Given the description of an element on the screen output the (x, y) to click on. 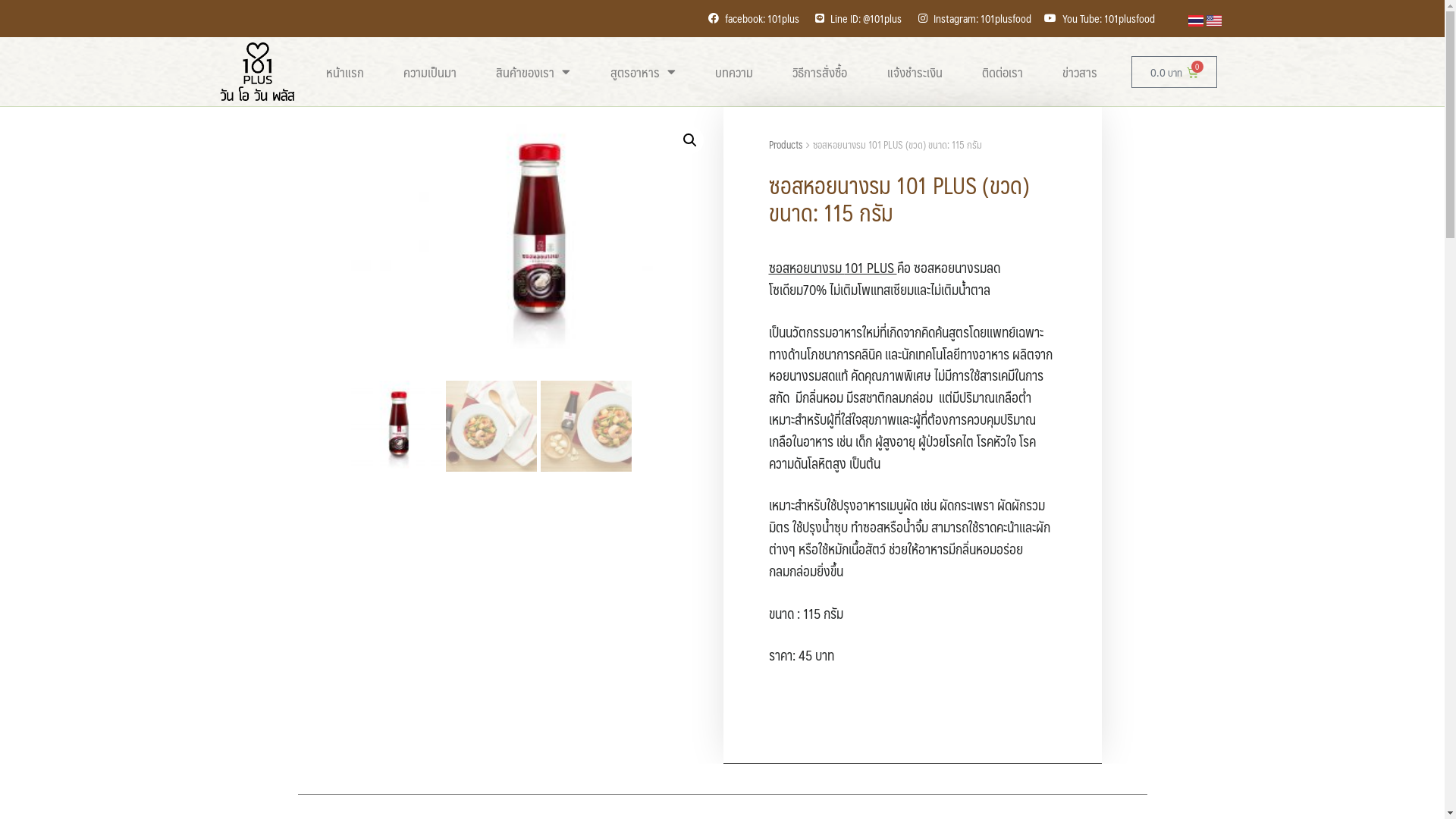
Products Element type: text (785, 144)
product-Oyster-sauce-115-1 Element type: hover (532, 235)
facebook: 101plus Element type: text (752, 17)
Instagram: 101plusfood Element type: text (972, 17)
You Tube: 101plusfood Element type: text (1099, 17)
Line ID: @101plus Element type: text (856, 17)
0.0 
0 Element type: text (1174, 71)
